Given the description of an element on the screen output the (x, y) to click on. 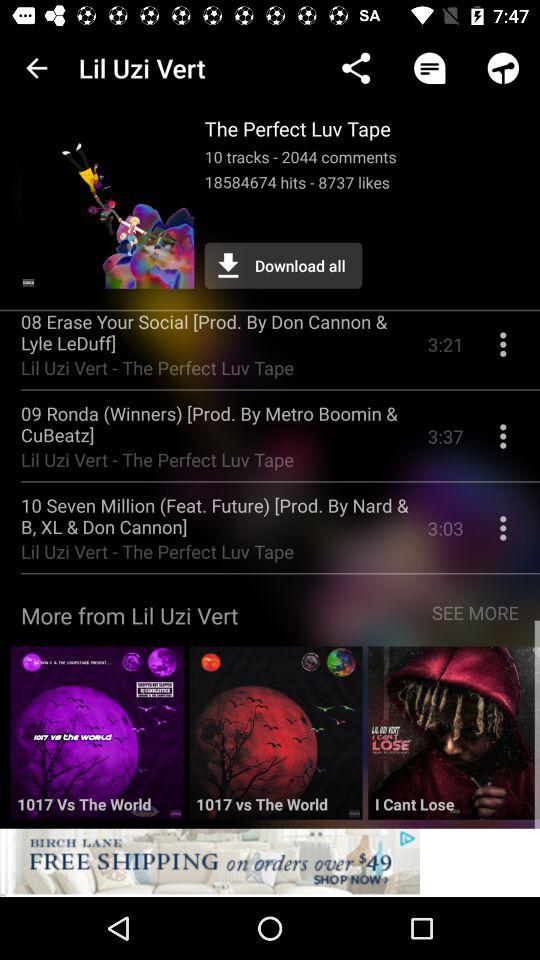
more options (503, 535)
